Given the description of an element on the screen output the (x, y) to click on. 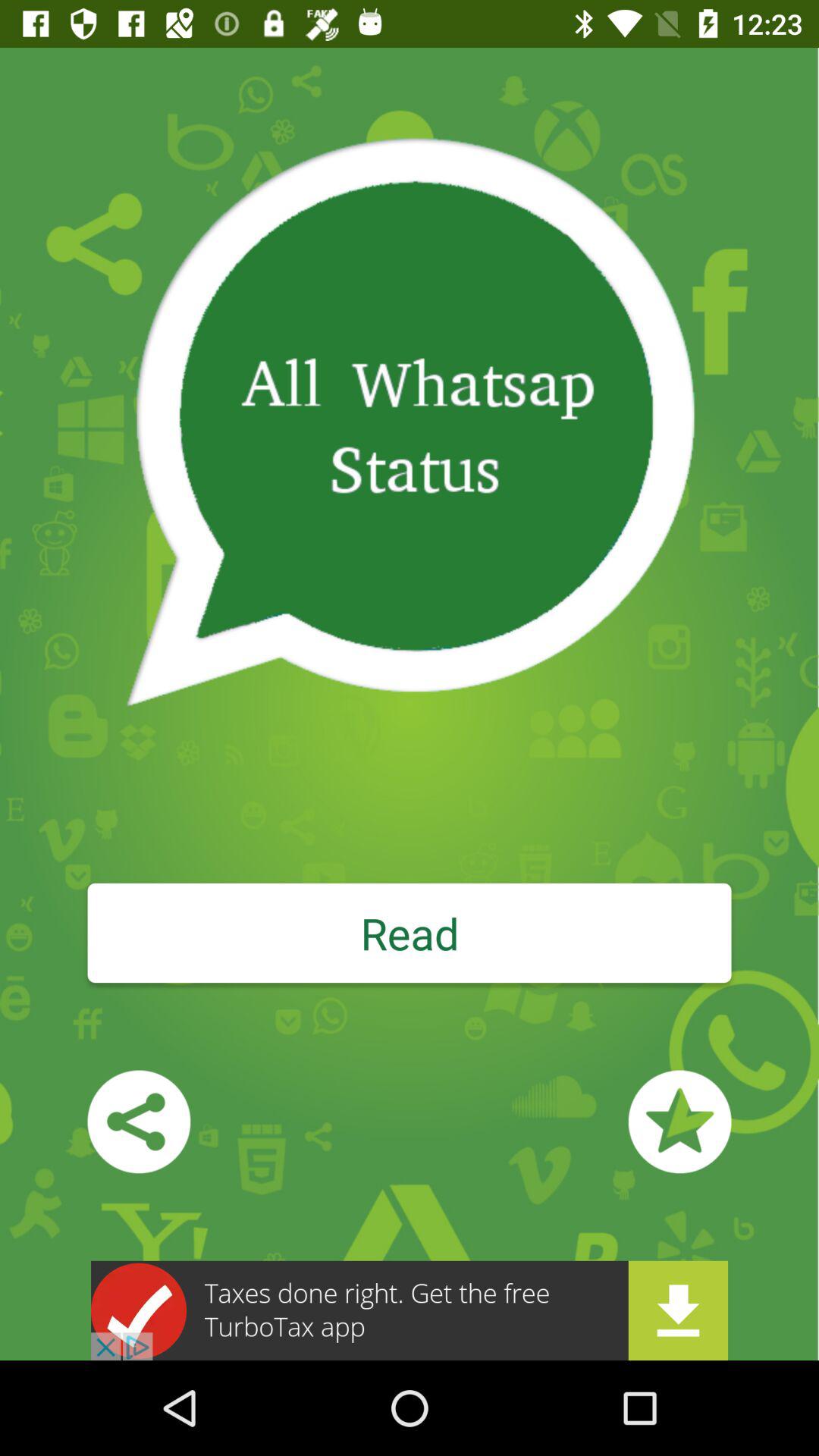
advertisement page (409, 1310)
